Given the description of an element on the screen output the (x, y) to click on. 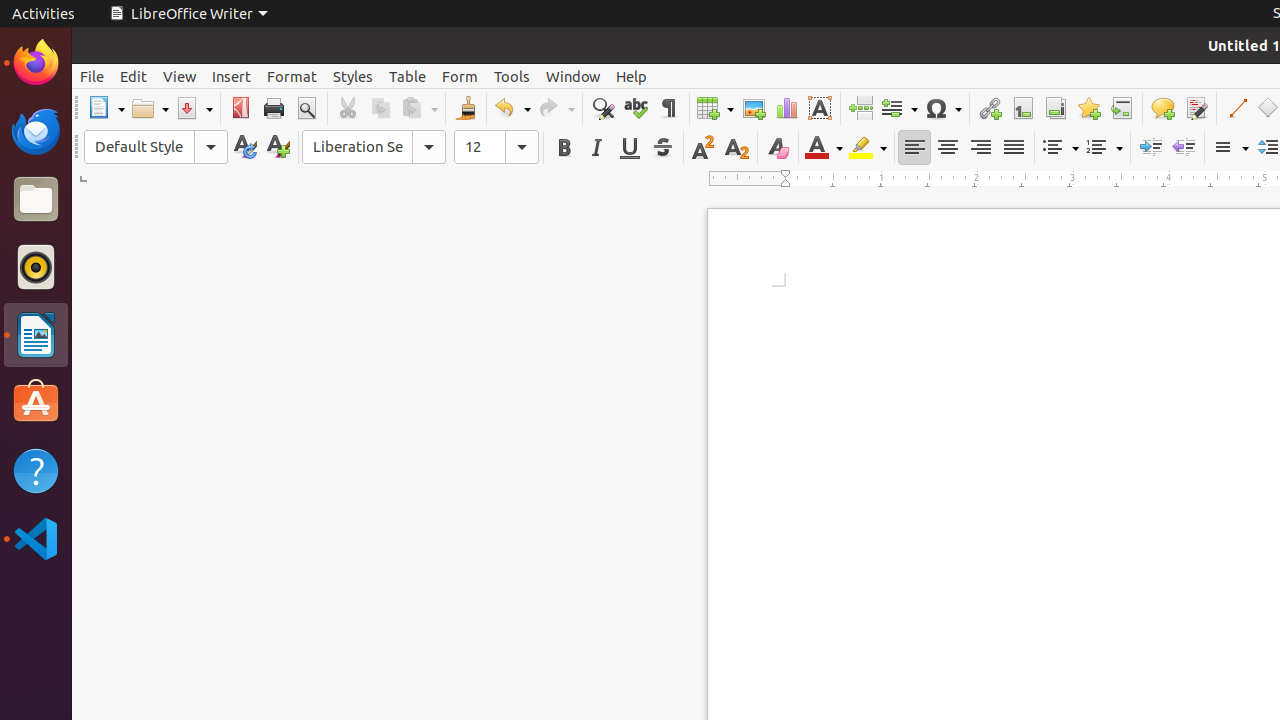
Edit Element type: menu (133, 76)
Italic Element type: toggle-button (596, 147)
LibreOffice Writer Element type: push-button (36, 334)
File Element type: menu (92, 76)
Cut Element type: push-button (347, 108)
